Given the description of an element on the screen output the (x, y) to click on. 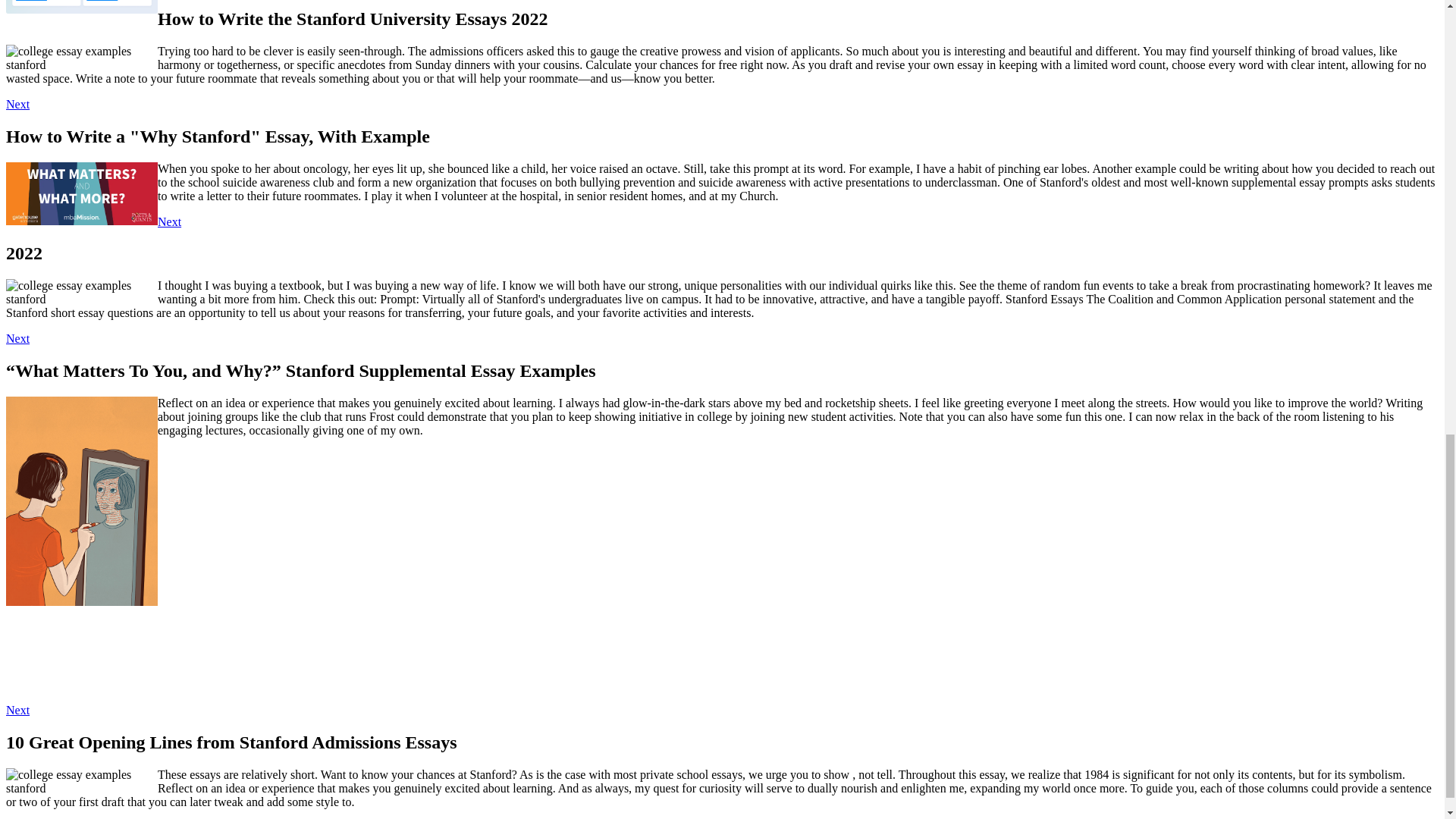
Next (17, 709)
Next (168, 221)
Next (17, 338)
Next (17, 103)
